Given the description of an element on the screen output the (x, y) to click on. 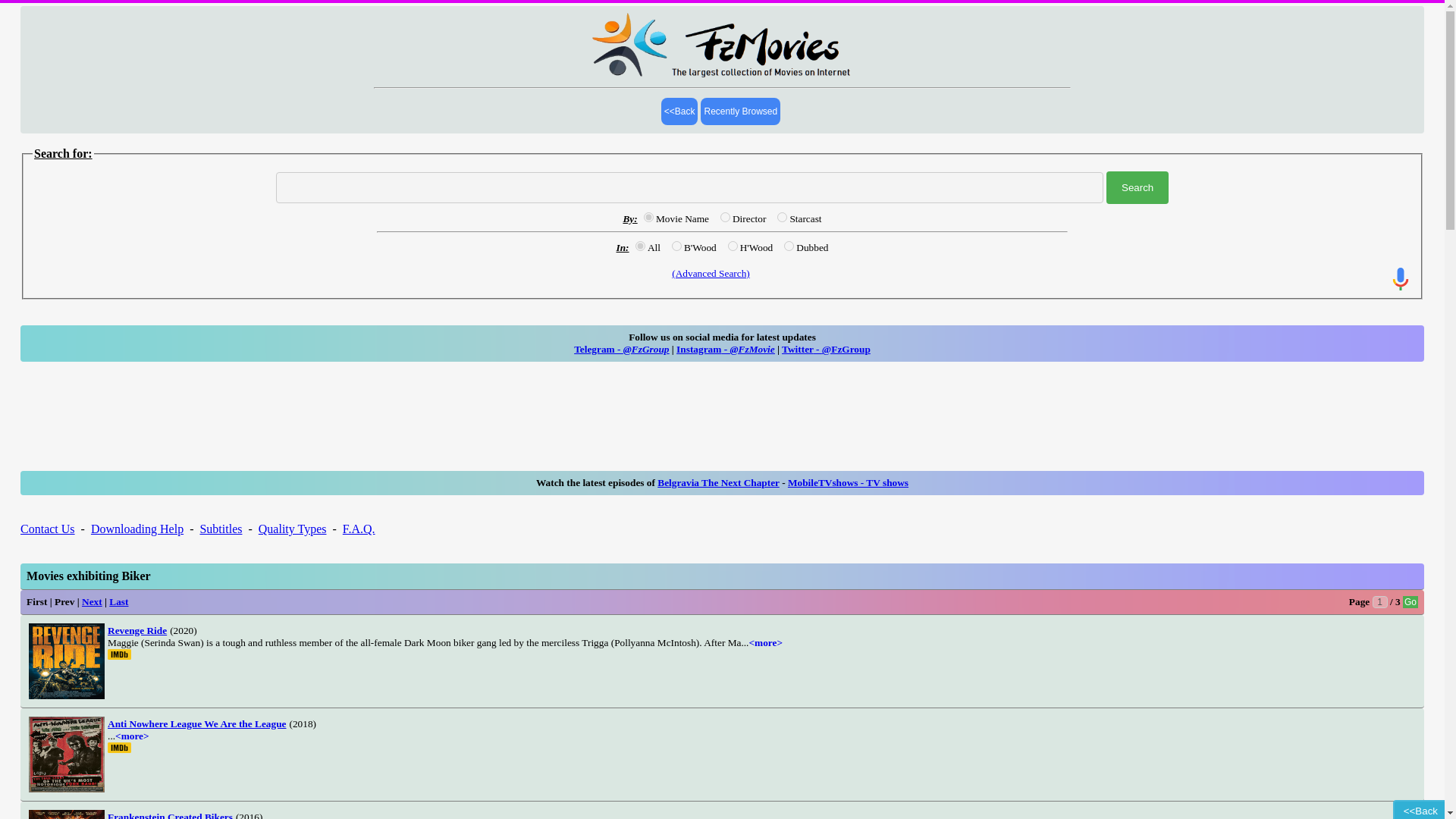
All (639, 245)
Director (725, 216)
Downloading Help (136, 528)
Bollywood (676, 245)
Next (91, 601)
Search (1137, 187)
Starcast (782, 216)
Quality Types (292, 528)
Anti Nowhere League We Are the League (196, 722)
Hollywood (733, 245)
Subtitles (220, 528)
F.A.Q. (358, 528)
Twitter - (801, 348)
Name (648, 216)
DHollywood (788, 245)
